Given the description of an element on the screen output the (x, y) to click on. 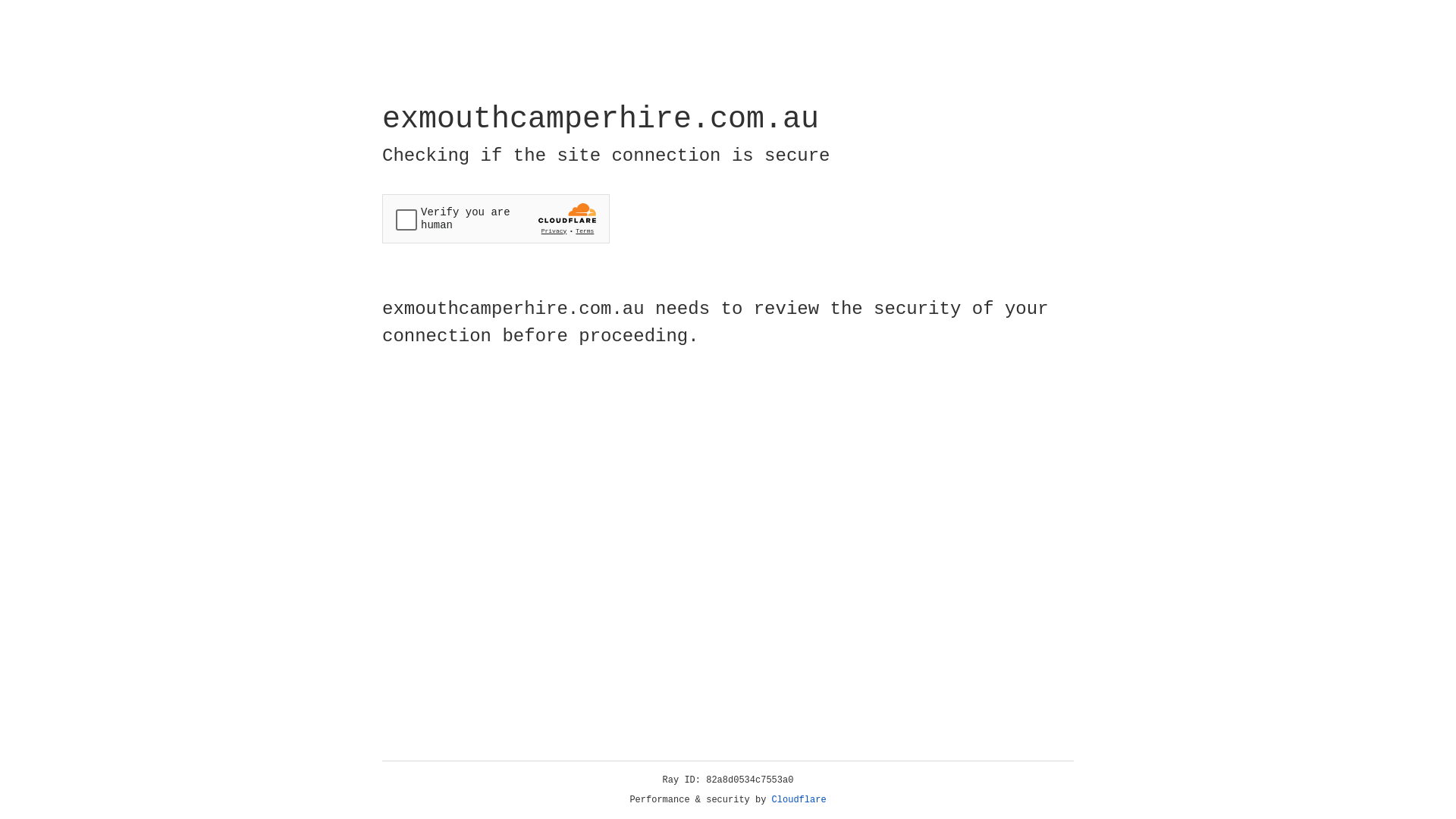
Cloudflare Element type: text (798, 799)
Widget containing a Cloudflare security challenge Element type: hover (495, 218)
